Given the description of an element on the screen output the (x, y) to click on. 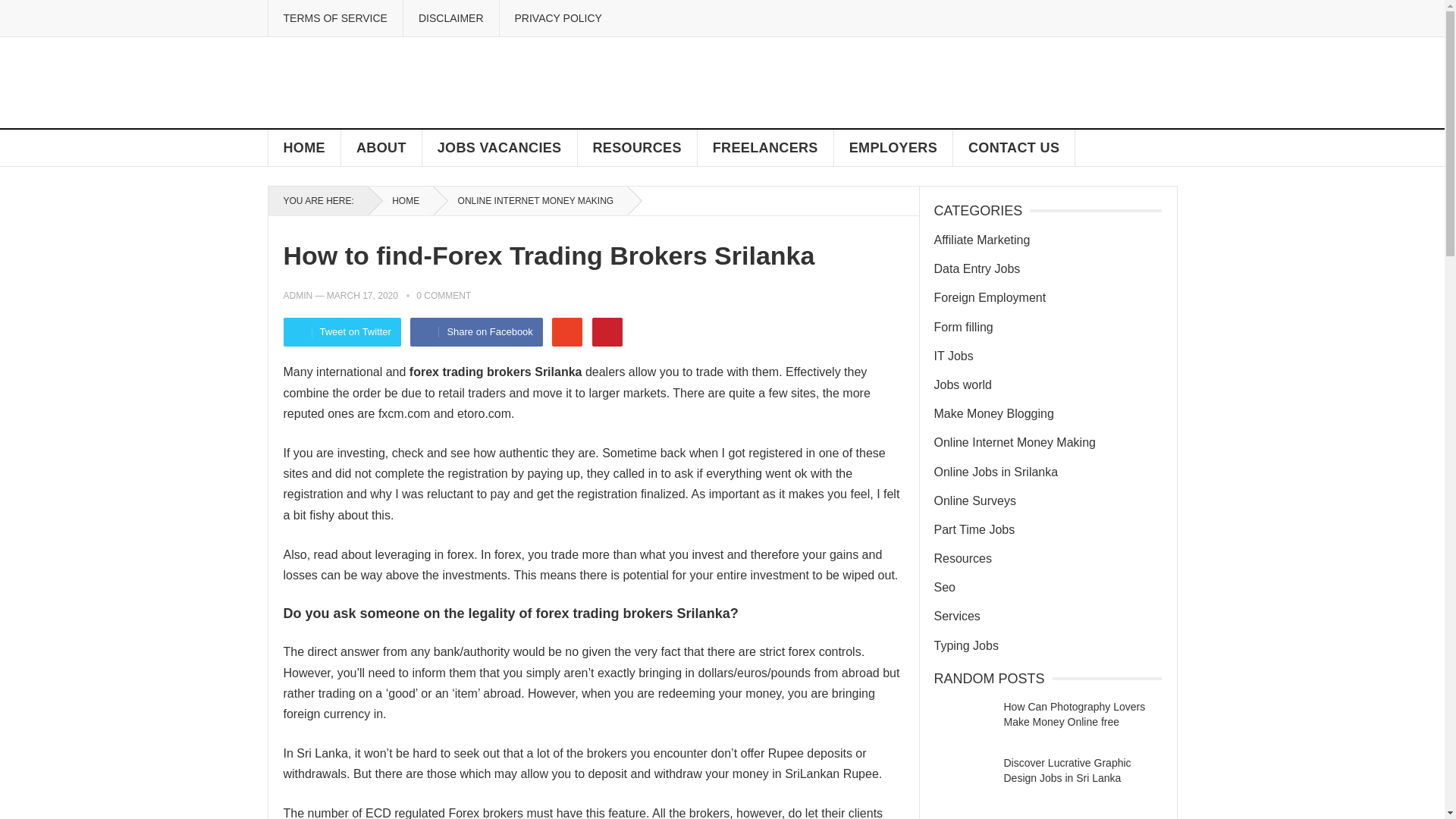
0 COMMENT (443, 295)
Tweet on Twitter (342, 331)
EMPLOYERS (893, 147)
Posts by admin (298, 295)
FREELANCERS (765, 147)
ABOUT (381, 147)
ONLINE INTERNET MONEY MAKING (530, 200)
TERMS OF SERVICE (333, 18)
HOME (400, 200)
HOME (303, 147)
PRIVACY POLICY (558, 18)
ADMIN (298, 295)
DISCLAIMER (451, 18)
JOBS VACANCIES (500, 147)
CONTACT US (1014, 147)
